Given the description of an element on the screen output the (x, y) to click on. 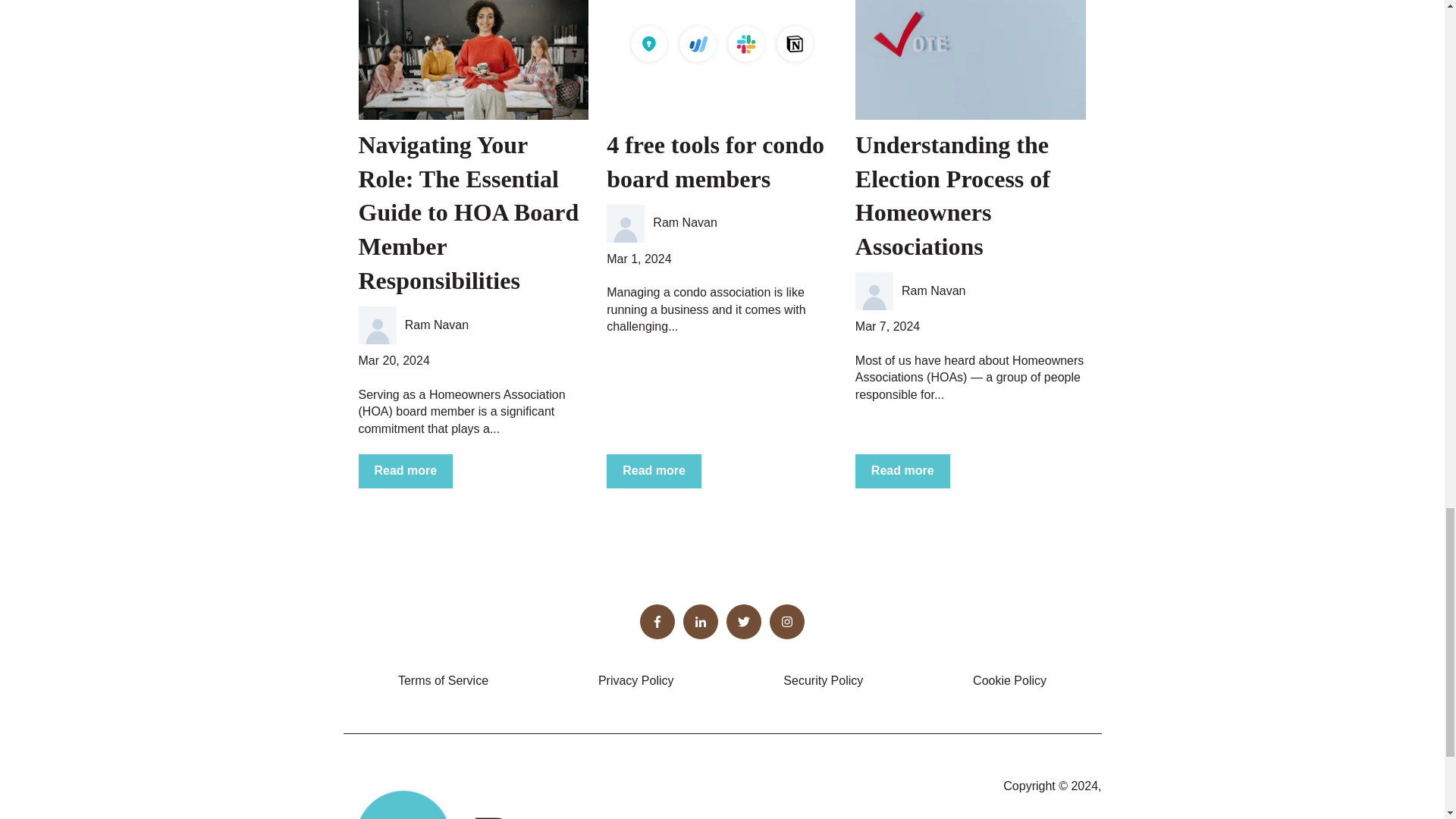
Cookie Policy (1009, 680)
Ram Navan (436, 324)
Security Policy (823, 680)
Read more (405, 470)
Ram Navan (933, 290)
Read more (654, 470)
Terms of Service (442, 680)
Privacy Policy (636, 680)
Ram Navan (684, 222)
